Given the description of an element on the screen output the (x, y) to click on. 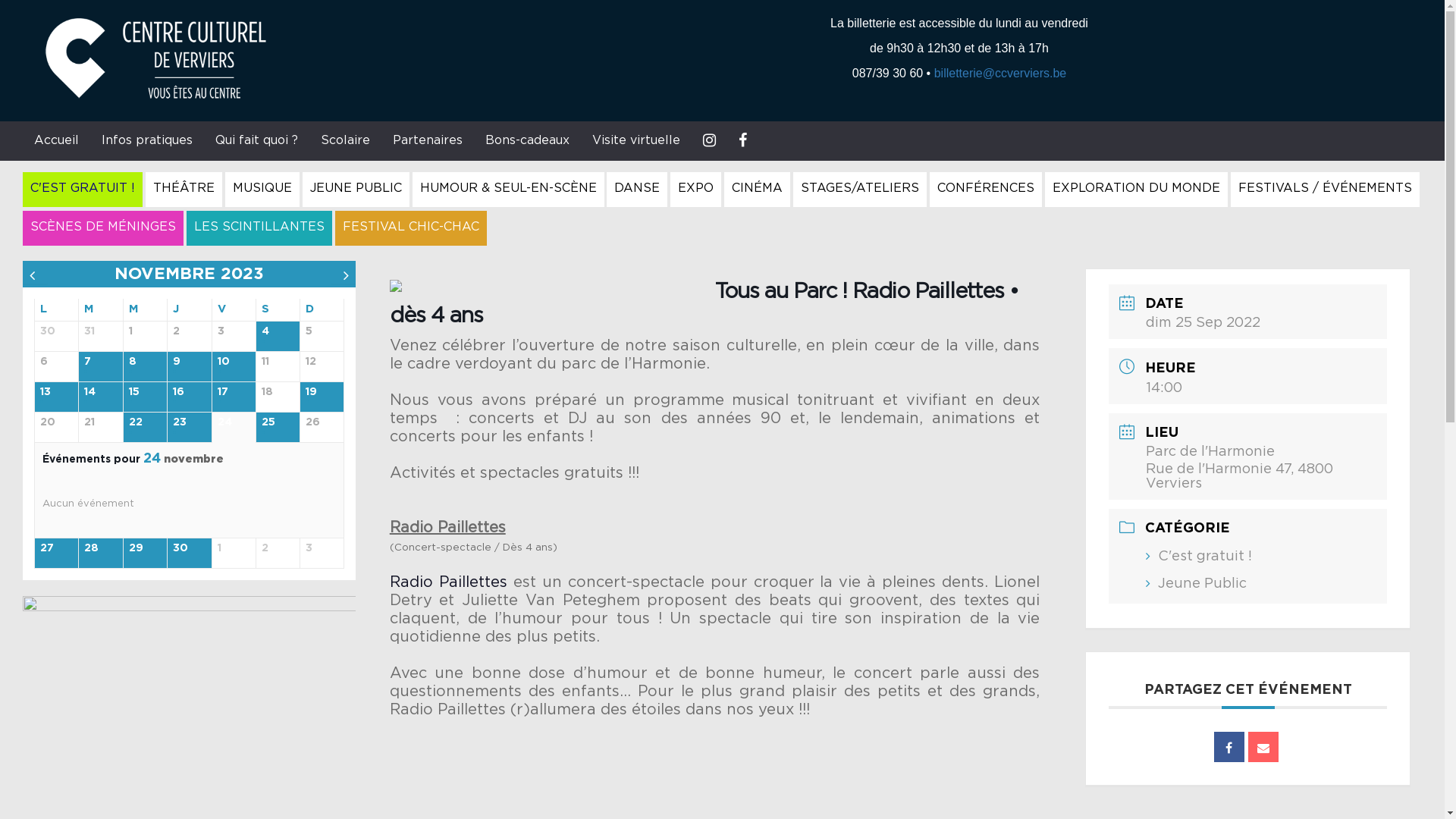
Scolaire Element type: text (345, 140)
14 Element type: text (100, 396)
29 Element type: text (144, 553)
Radio Paillettes Element type: text (448, 581)
23 Element type: text (188, 427)
7 Element type: text (100, 366)
Infos pratiques Element type: text (146, 140)
19 Element type: text (321, 396)
27 Element type: text (56, 553)
STAGES/ATELIERS Element type: text (859, 189)
FESTIVAL CHIC-CHAC Element type: text (410, 227)
15 Element type: text (144, 396)
10 Element type: text (233, 366)
28 Element type: text (100, 553)
17 Element type: text (233, 396)
Centre Culturel de Verviers Element type: hover (189, 57)
Email Element type: hover (1263, 746)
16 Element type: text (188, 396)
Jeune Public Element type: text (1201, 583)
13 Element type: text (56, 396)
MUSIQUE Element type: text (262, 189)
25 Element type: text (277, 427)
C'EST GRATUIT ! Element type: text (82, 189)
8 Element type: text (144, 366)
22 Element type: text (144, 427)
Partenaires Element type: text (427, 140)
C'est gratuit ! Element type: text (1204, 556)
Qui fait quoi ? Element type: text (256, 140)
9 Element type: text (188, 366)
4 Element type: text (277, 336)
JEUNE PUBLIC Element type: text (355, 189)
Visite virtuelle Element type: text (635, 140)
Bons-cadeaux Element type: text (526, 140)
30 Element type: text (188, 553)
billetterie@ccverviers.be Element type: text (1000, 72)
EXPO Element type: text (695, 189)
EXPLORATION DU MONDE Element type: text (1135, 189)
Accueil Element type: text (56, 140)
DANSE Element type: text (636, 189)
LES SCINTILLANTES Element type: text (259, 227)
Partager sur Facebook Element type: hover (1229, 746)
